Given the description of an element on the screen output the (x, y) to click on. 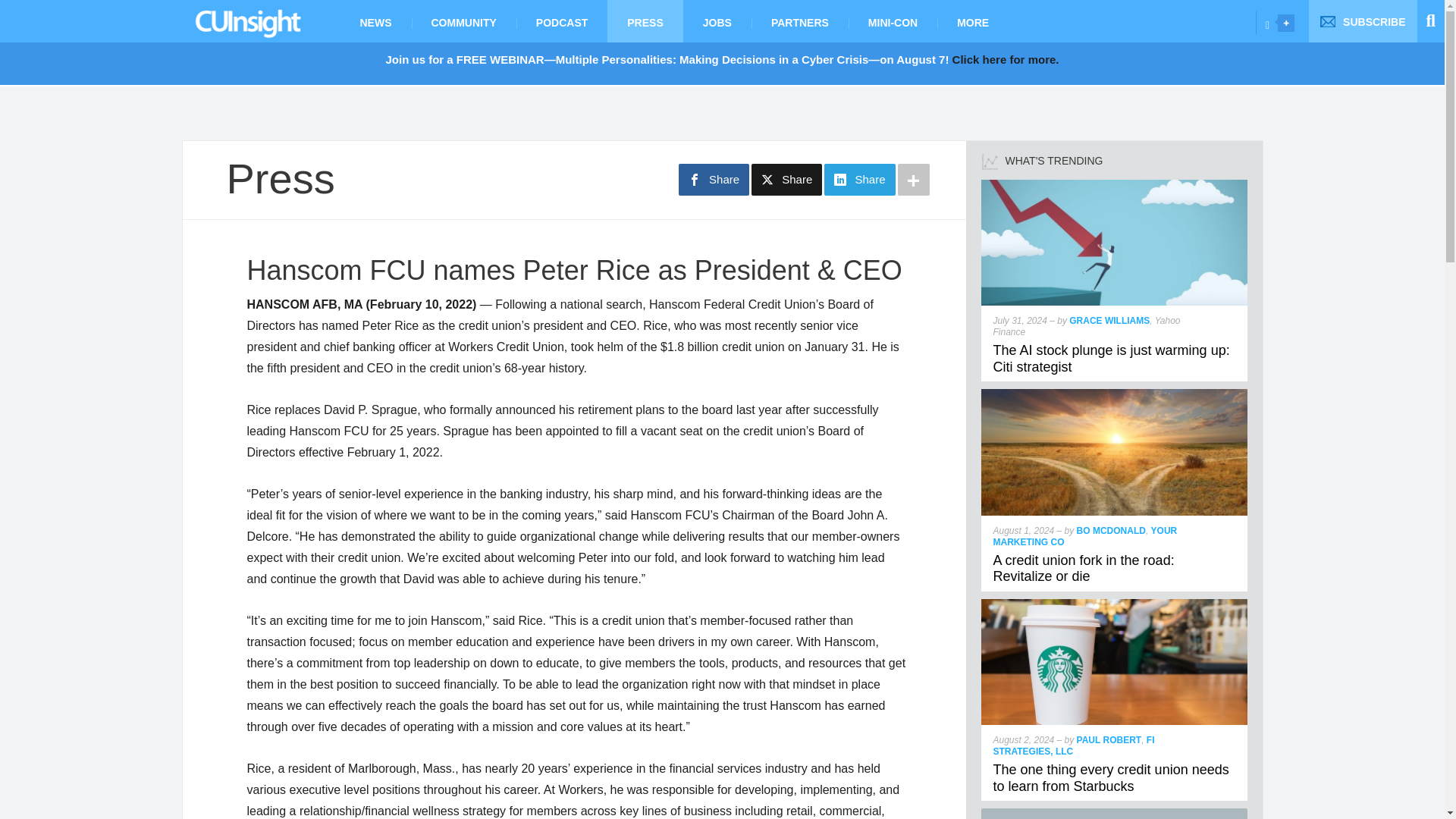
MINI-CON (892, 21)
JOBS (716, 21)
Share (859, 179)
PRESS (644, 21)
The AI stock plunge is just warming up: Citi strategist (1114, 185)
SUBSCRIBE (1362, 21)
NEWS (374, 21)
Opener (1286, 22)
The AI stock plunge is just warming up: Citi strategist (1111, 358)
MORE (973, 21)
PARTNERS (799, 21)
Share (786, 179)
COMMUNITY (462, 21)
Share (713, 179)
